Given the description of an element on the screen output the (x, y) to click on. 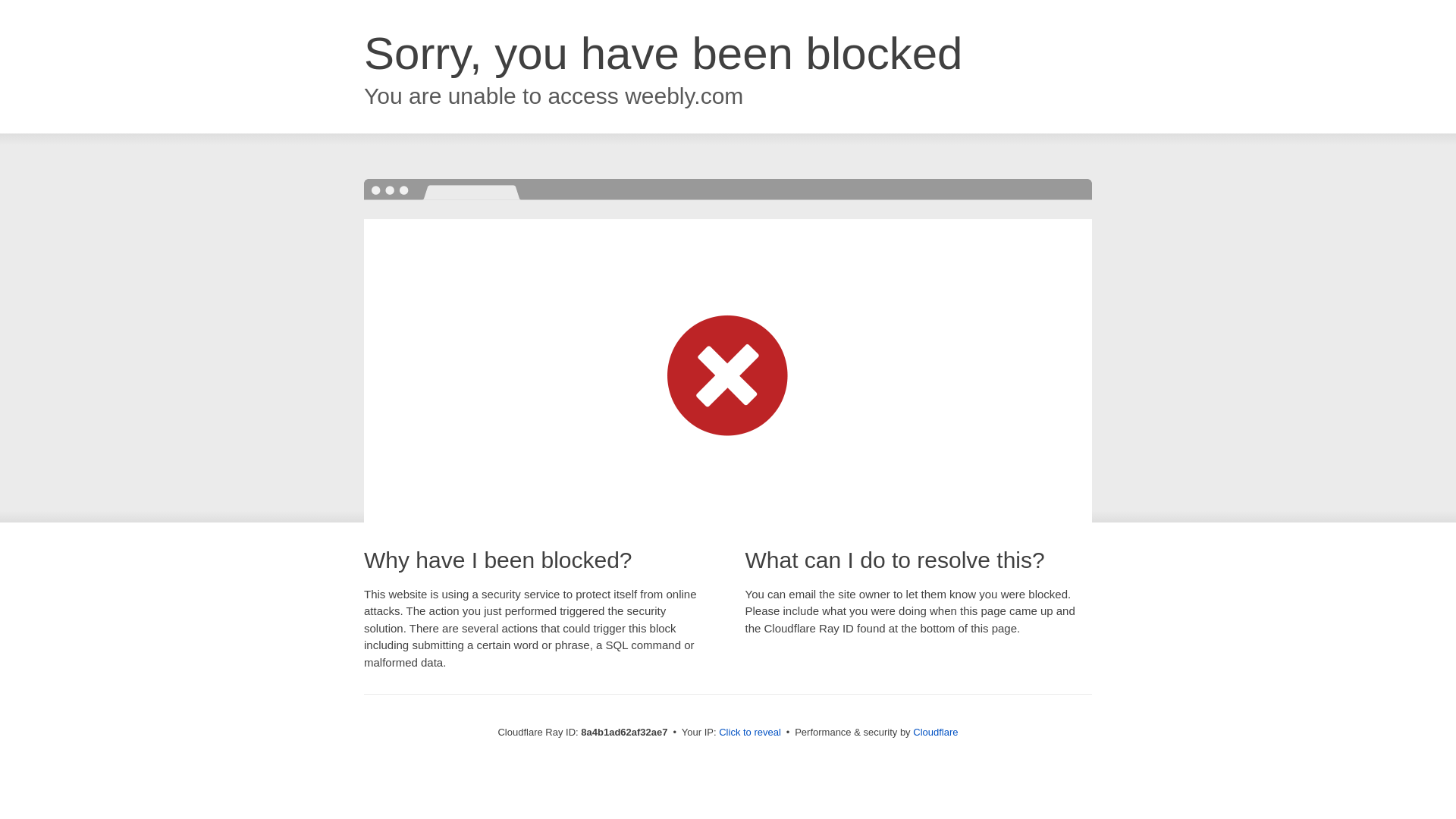
Cloudflare (935, 731)
Click to reveal (749, 732)
